Given the description of an element on the screen output the (x, y) to click on. 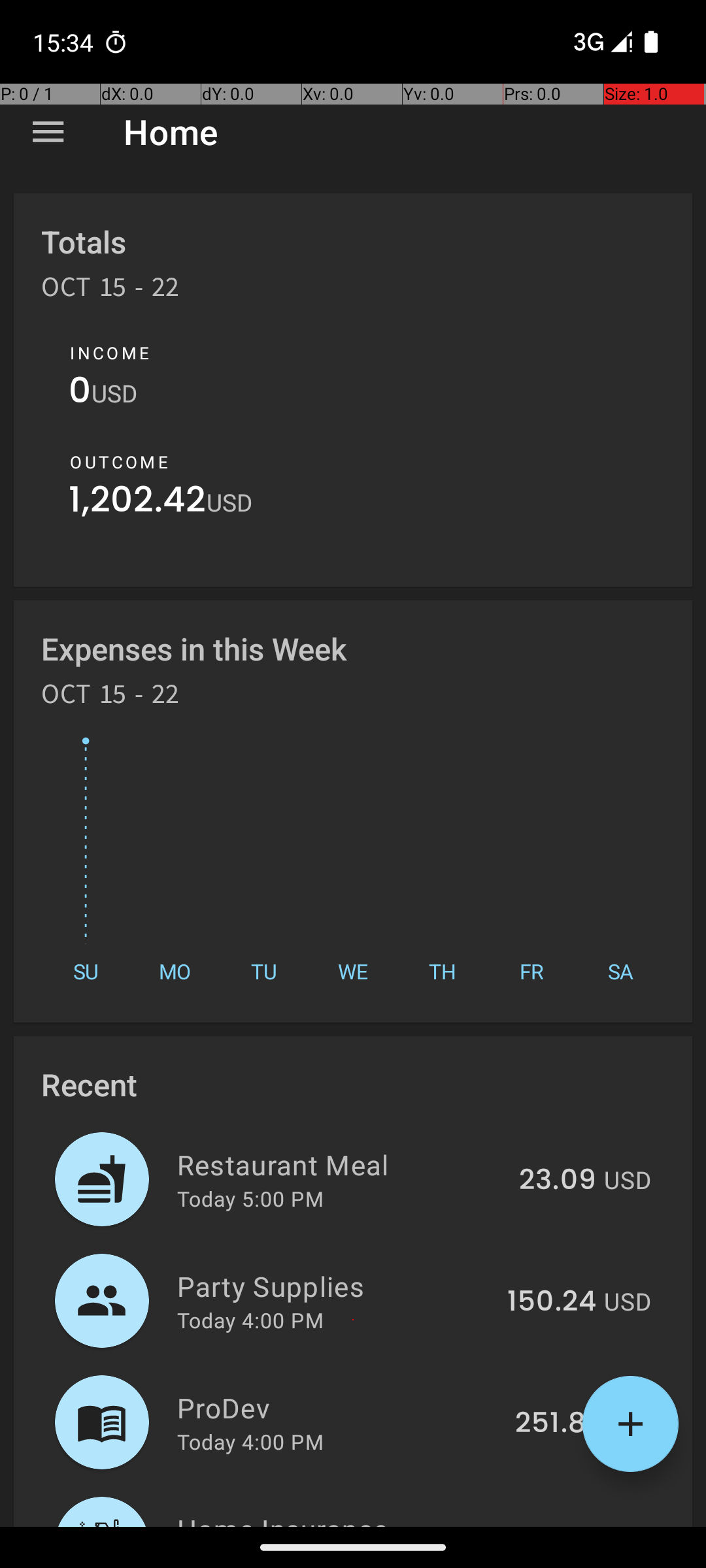
1,202.42 Element type: android.widget.TextView (137, 502)
Restaurant Meal Element type: android.widget.TextView (340, 1164)
23.09 Element type: android.widget.TextView (557, 1180)
Today 4:00 PM Element type: android.widget.TextView (250, 1320)
150.24 Element type: android.widget.TextView (551, 1301)
ProDev Element type: android.widget.TextView (338, 1407)
251.81 Element type: android.widget.TextView (555, 1423)
Home Insurance Element type: android.widget.TextView (339, 1518)
69.02 Element type: android.widget.TextView (556, 1524)
